Given the description of an element on the screen output the (x, y) to click on. 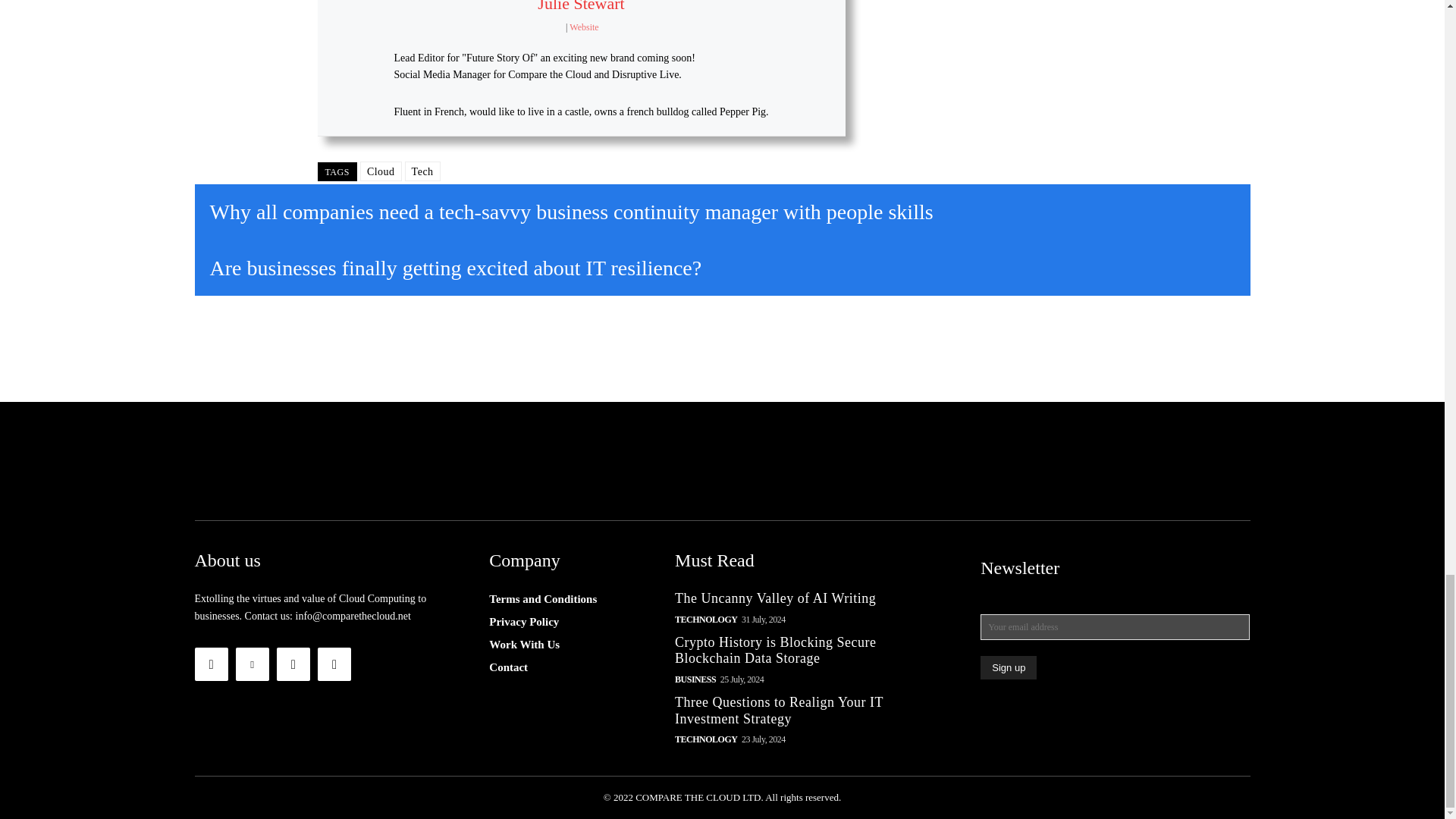
Sign up (1007, 667)
